Given the description of an element on the screen output the (x, y) to click on. 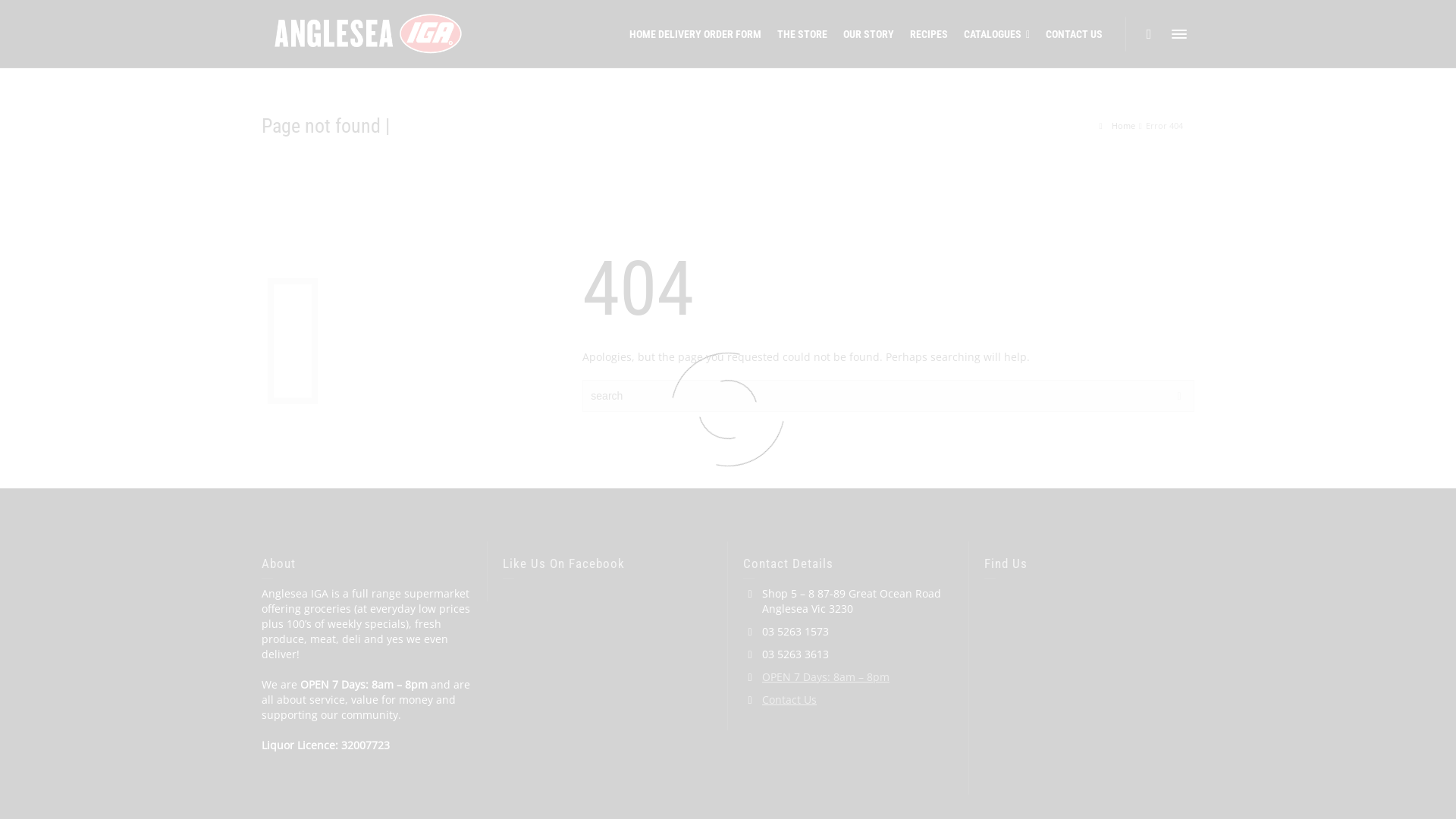
Contact Us Element type: text (789, 699)
Home Element type: text (1117, 125)
CATALOGUES Element type: text (997, 34)
HOME DELIVERY ORDER FORM Element type: text (695, 34)
OUR STORY Element type: text (868, 34)
IGA Anglesea Element type: hover (368, 32)
CONTACT US Element type: text (1074, 34)
THE STORE Element type: text (802, 34)
RECIPES Element type: text (929, 34)
Search Element type: hover (1148, 34)
